Given the description of an element on the screen output the (x, y) to click on. 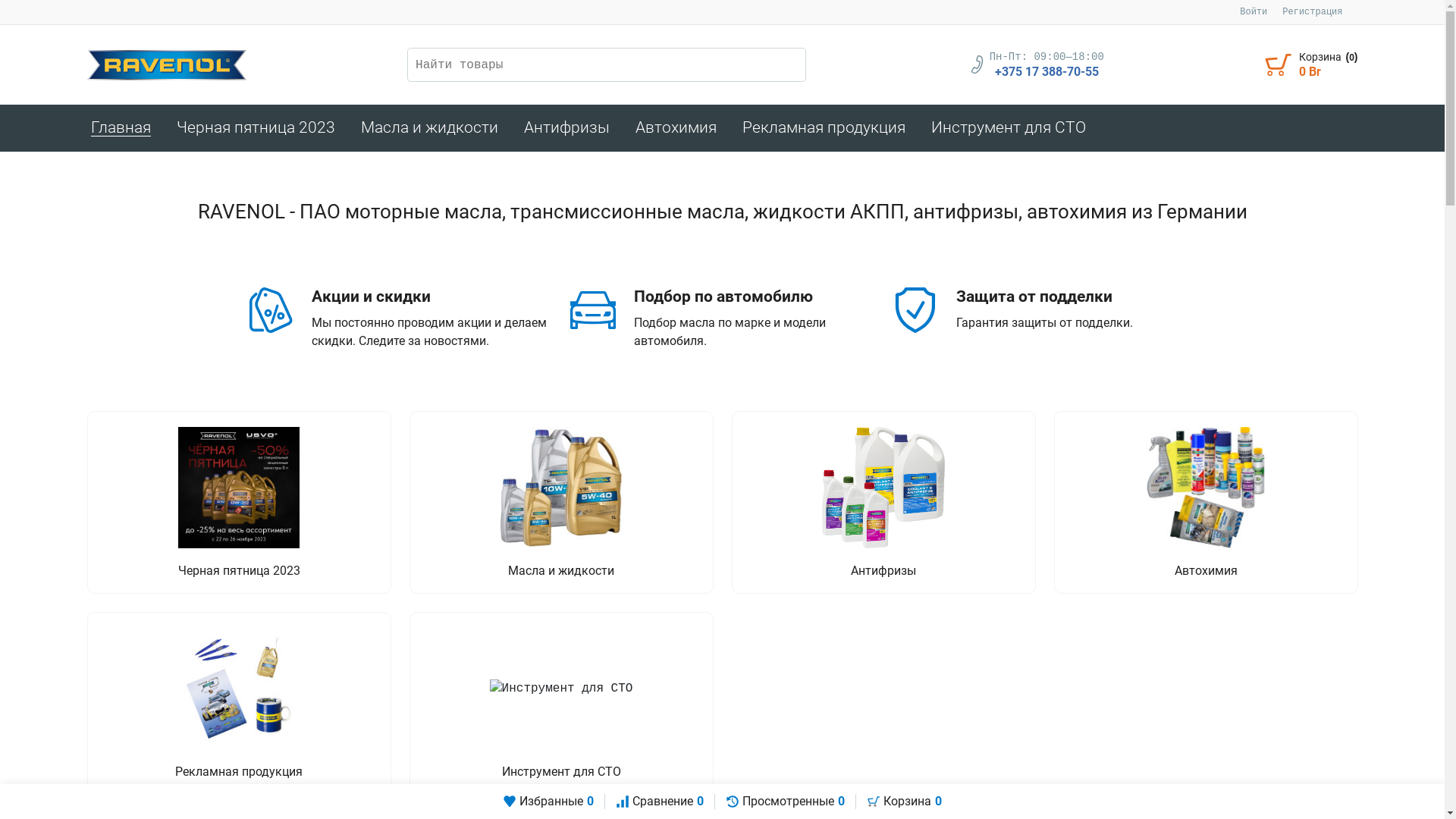
+375 17 388-70-55 Element type: text (1046, 71)
